Given the description of an element on the screen output the (x, y) to click on. 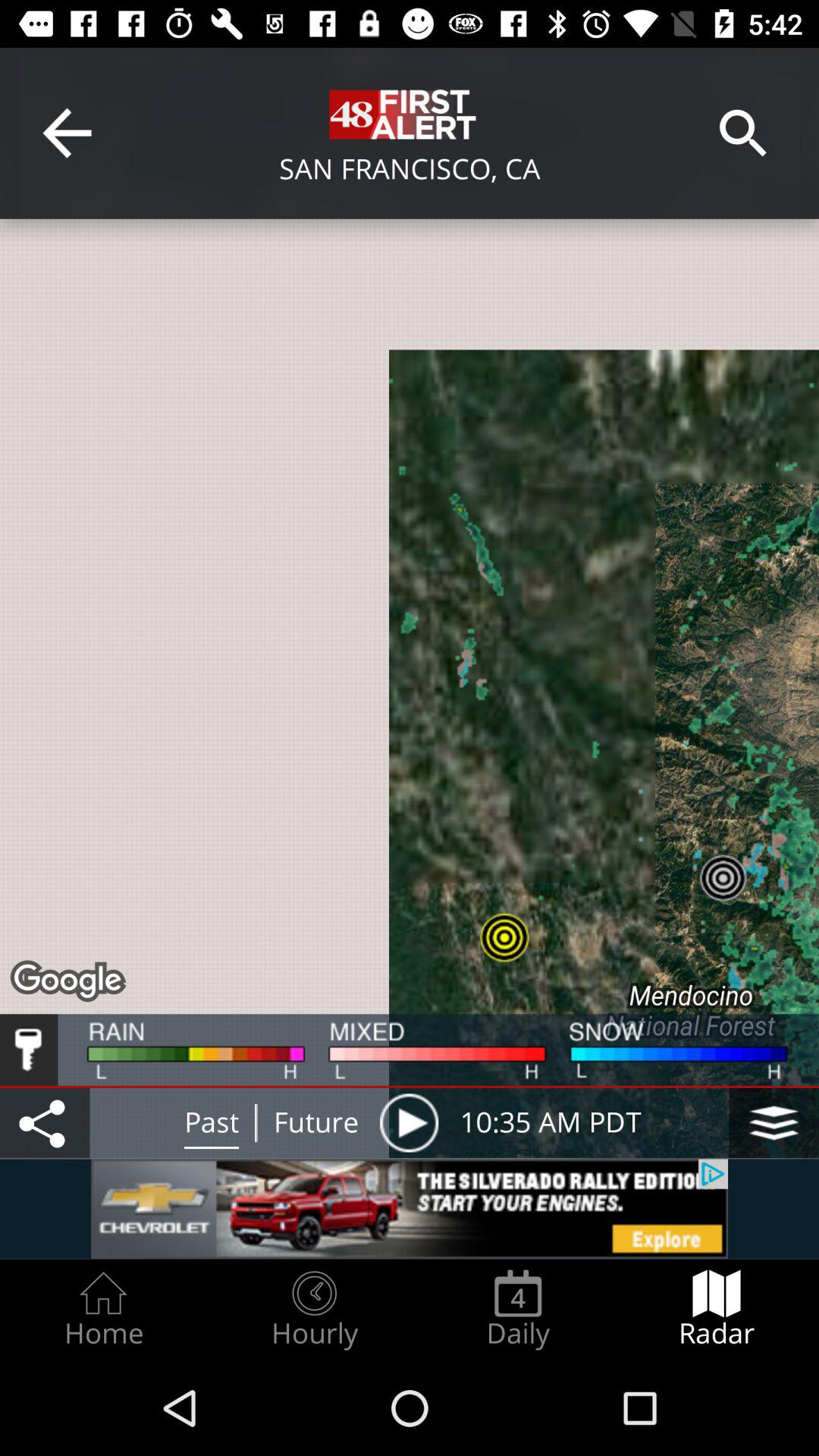
click to play (409, 1122)
